Given the description of an element on the screen output the (x, y) to click on. 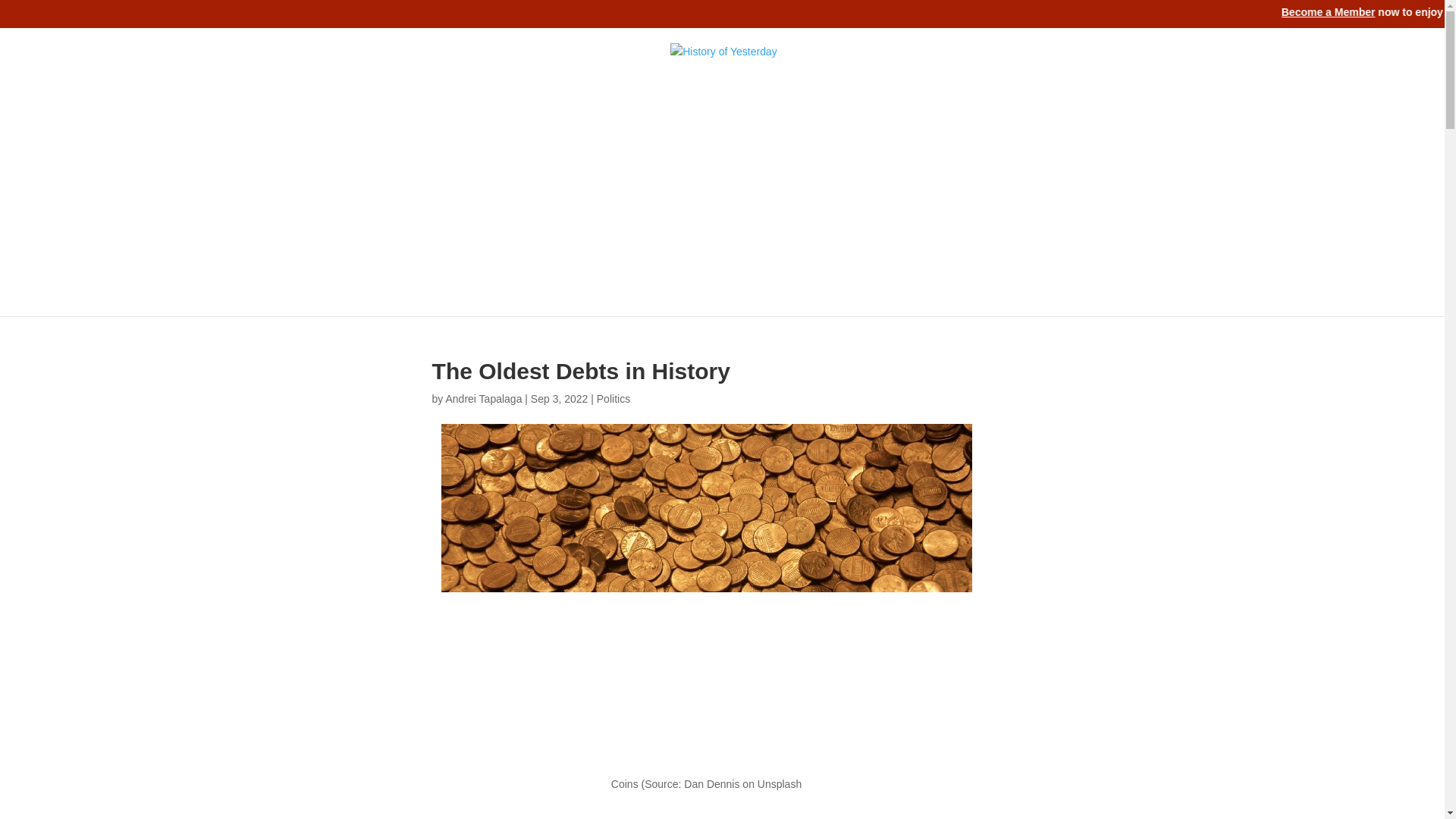
Technology (785, 261)
Politics (613, 398)
Andrei Tapalaga (483, 398)
Posts by Andrei Tapalaga (483, 398)
About Us (400, 261)
Tweet (1329, 56)
Politics (596, 261)
Philosophy (528, 261)
Culture (462, 261)
Religion (655, 261)
